Given the description of an element on the screen output the (x, y) to click on. 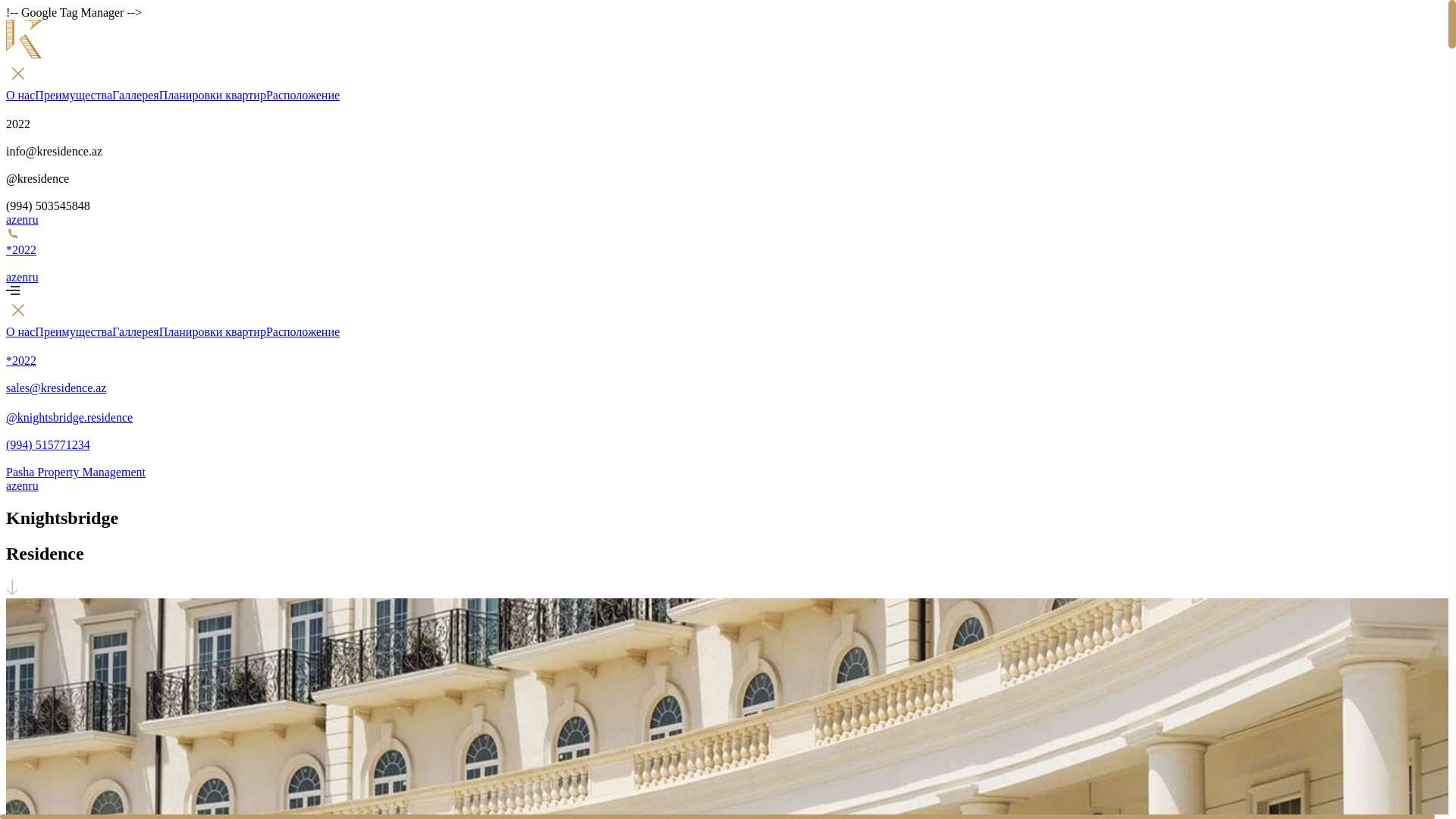
*2022 Element type: text (724, 248)
en Element type: text (22, 276)
en Element type: text (22, 485)
ru Element type: text (32, 219)
@knightsbridge.residence Element type: text (724, 409)
az Element type: text (11, 219)
ru Element type: text (32, 276)
sales@kresidence.az Element type: text (724, 381)
(994) 515771234 Element type: text (724, 437)
az Element type: text (11, 485)
*2022 Element type: text (724, 352)
Pasha Property Management Element type: text (724, 465)
az Element type: text (11, 276)
ru Element type: text (32, 485)
en Element type: text (22, 219)
